Given the description of an element on the screen output the (x, y) to click on. 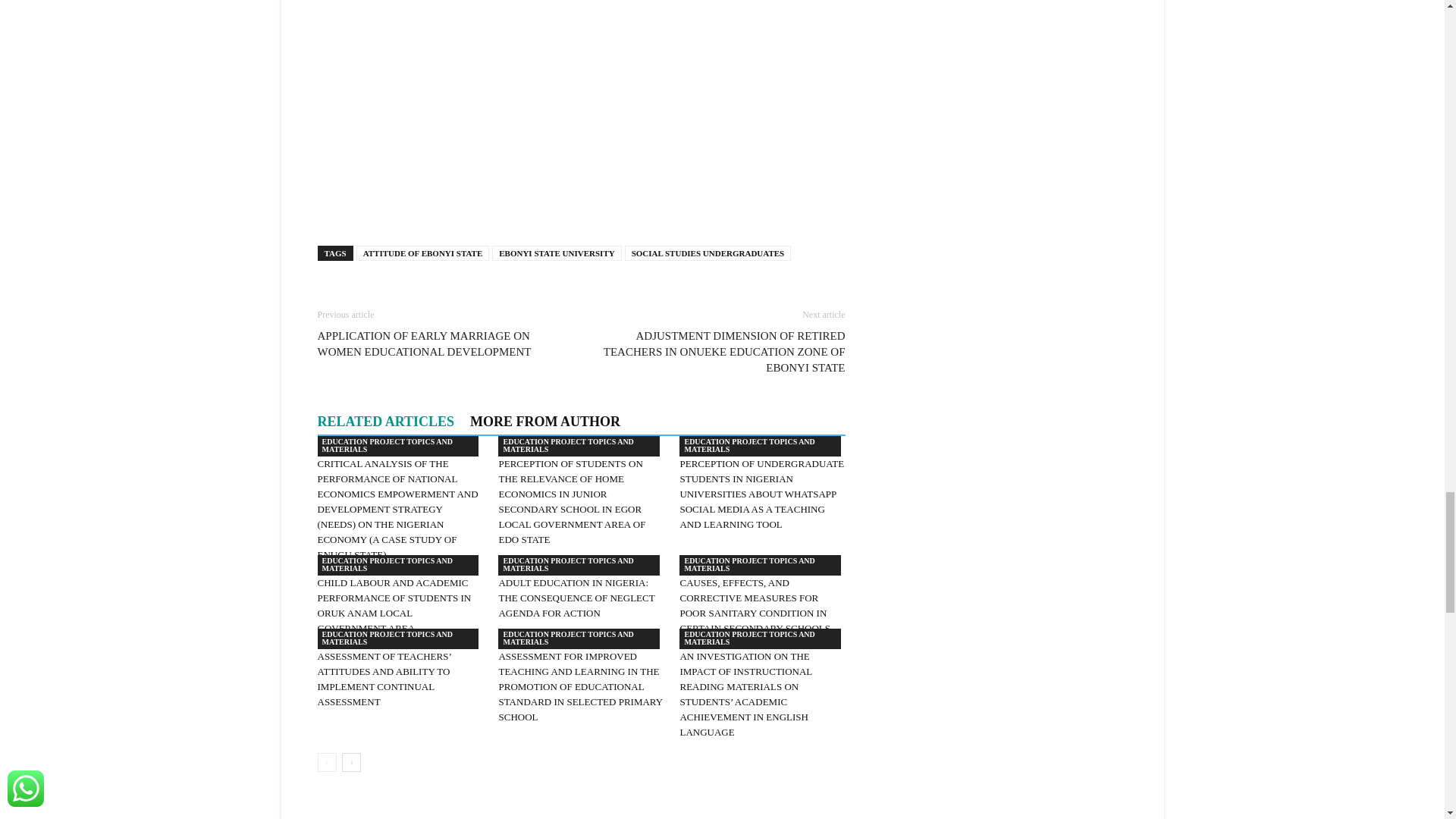
bottomFacebookLike (430, 294)
Advertisement (580, 119)
